Given the description of an element on the screen output the (x, y) to click on. 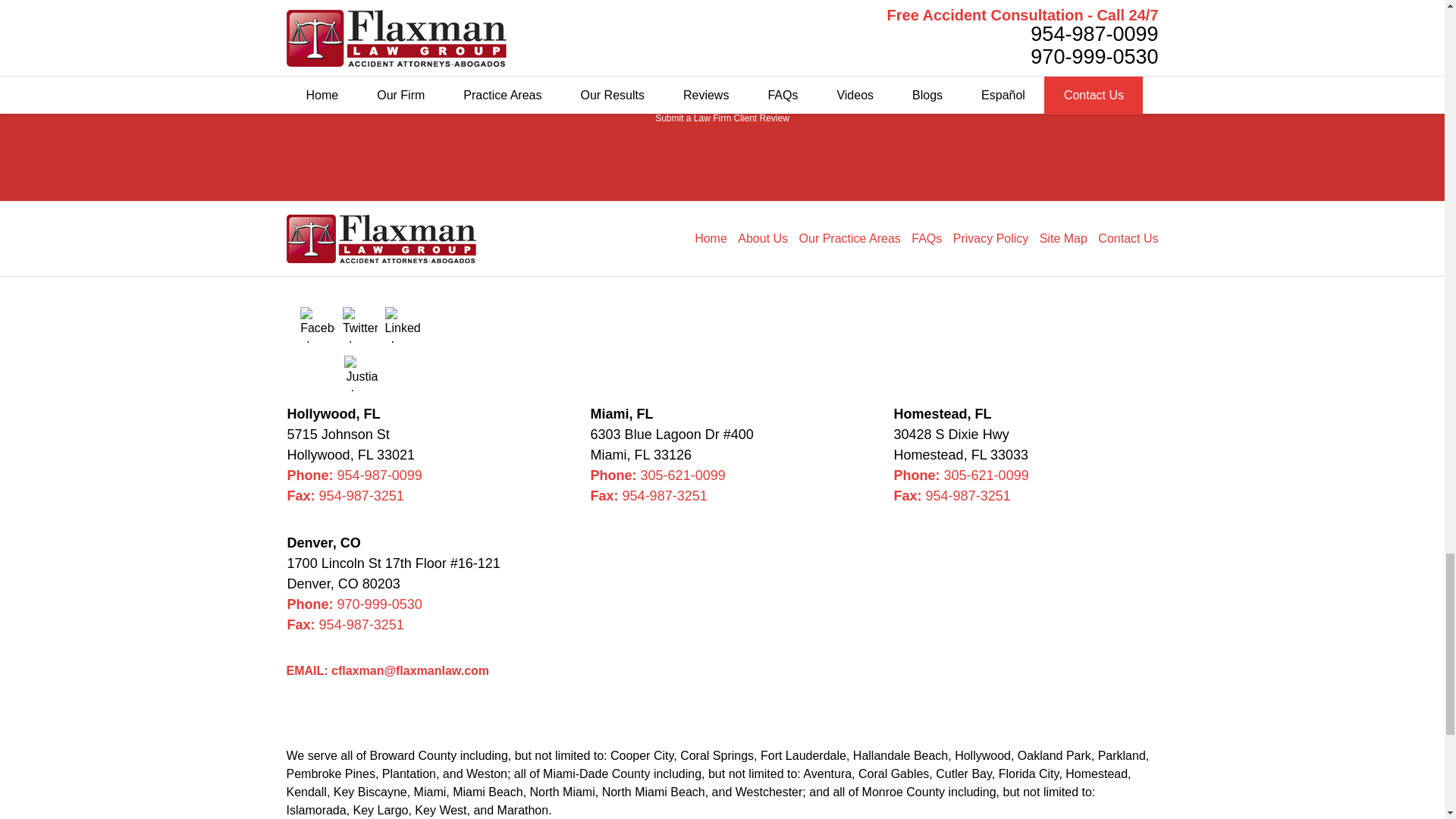
Justia (360, 372)
Facebook (316, 324)
Twitter (359, 324)
LinkedIn (402, 324)
